Given the description of an element on the screen output the (x, y) to click on. 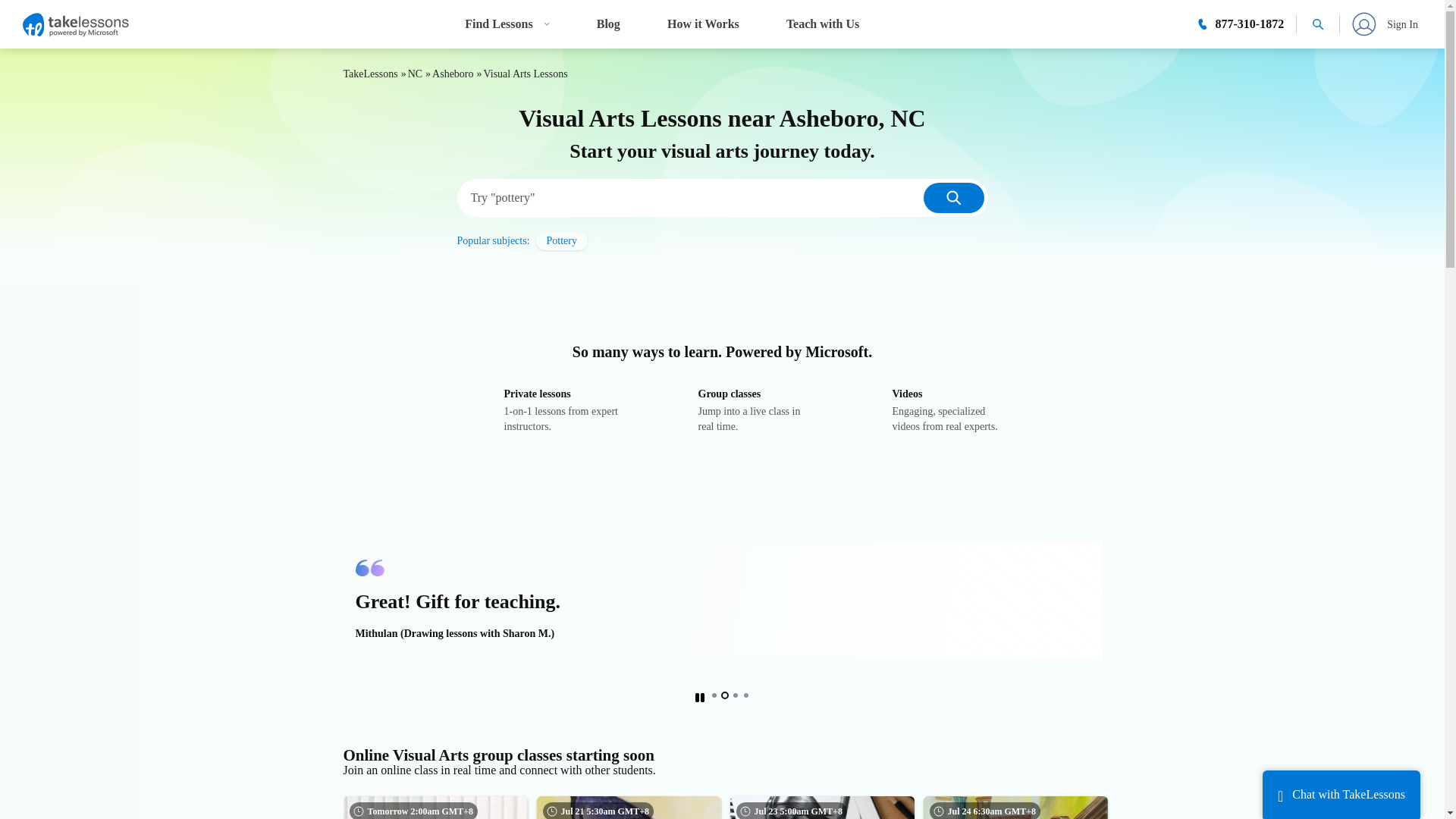
1 (713, 695)
Visual Arts Lessons (525, 73)
Sign In (527, 410)
3 (1380, 24)
search (734, 695)
How it Works (953, 197)
Teach with Us (702, 22)
Pottery (822, 22)
TakeLessons (561, 240)
2 (369, 73)
NC (724, 695)
Asheboro (916, 410)
4 (414, 73)
